Given the description of an element on the screen output the (x, y) to click on. 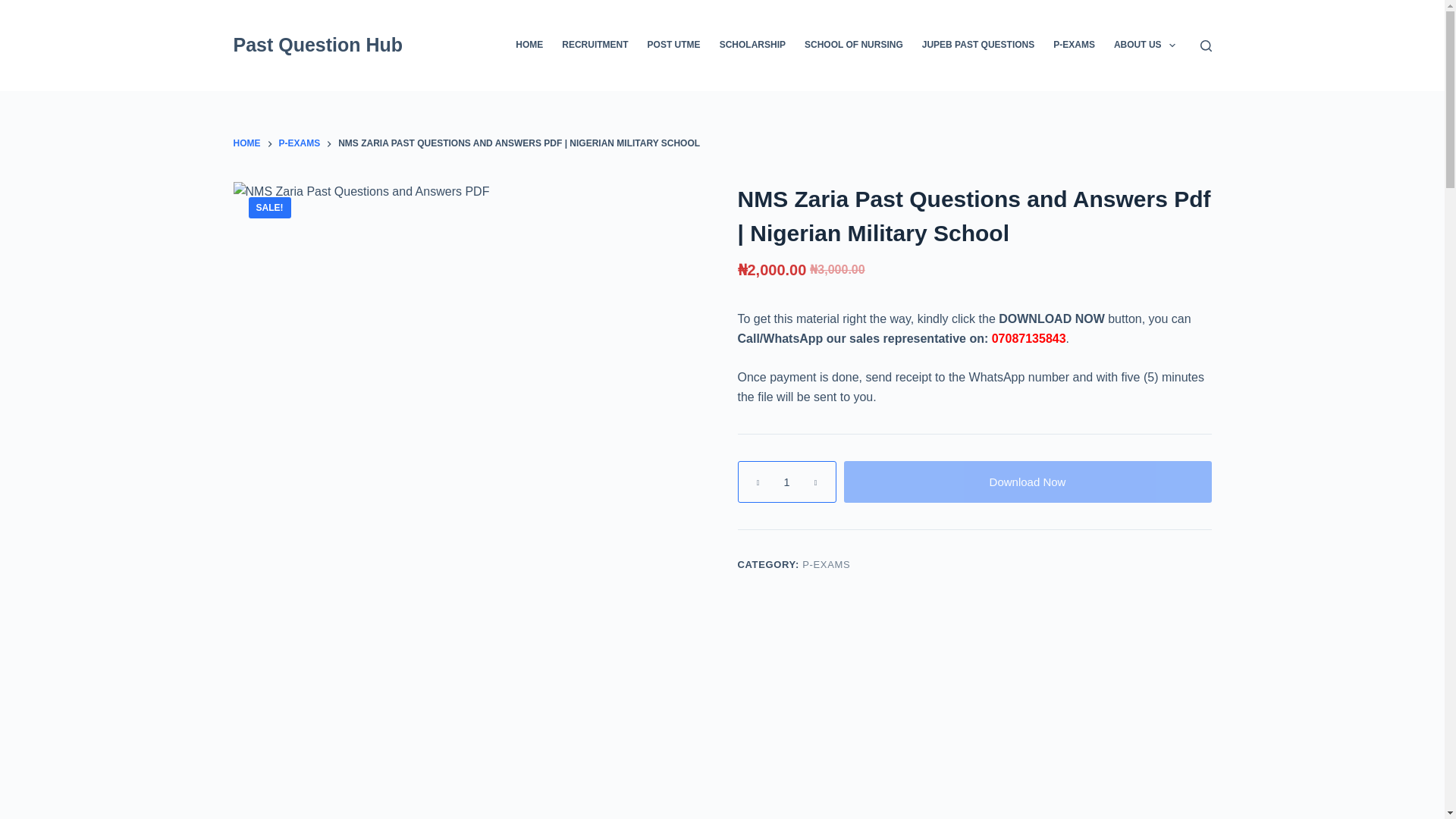
SCHOOL OF NURSING (853, 45)
P-EXAMS (826, 564)
Download Now (1027, 481)
HOME (246, 143)
JUPEB PAST QUESTIONS (977, 45)
Skip to content (15, 7)
SCHOLARSHIP (752, 45)
P-EXAMS (299, 143)
RECRUITMENT (595, 45)
1 (785, 481)
